Given the description of an element on the screen output the (x, y) to click on. 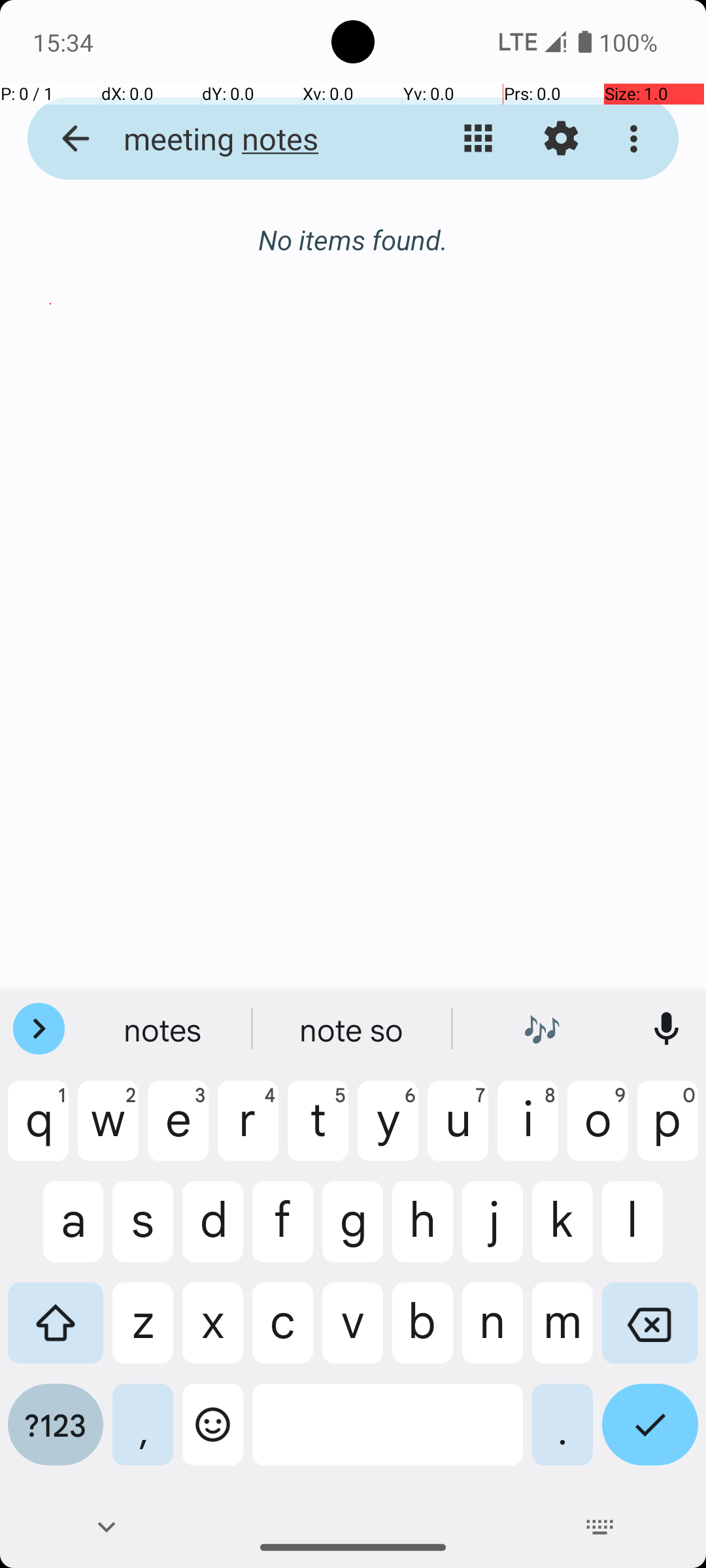
meeting notes Element type: android.widget.EditText (252, 138)
October 16 Element type: android.widget.TextView (352, 483)
notes Element type: android.widget.FrameLayout (163, 1028)
note so Element type: android.widget.FrameLayout (352, 1028)
emoji 🎶 Element type: android.widget.FrameLayout (541, 1028)
